Given the description of an element on the screen output the (x, y) to click on. 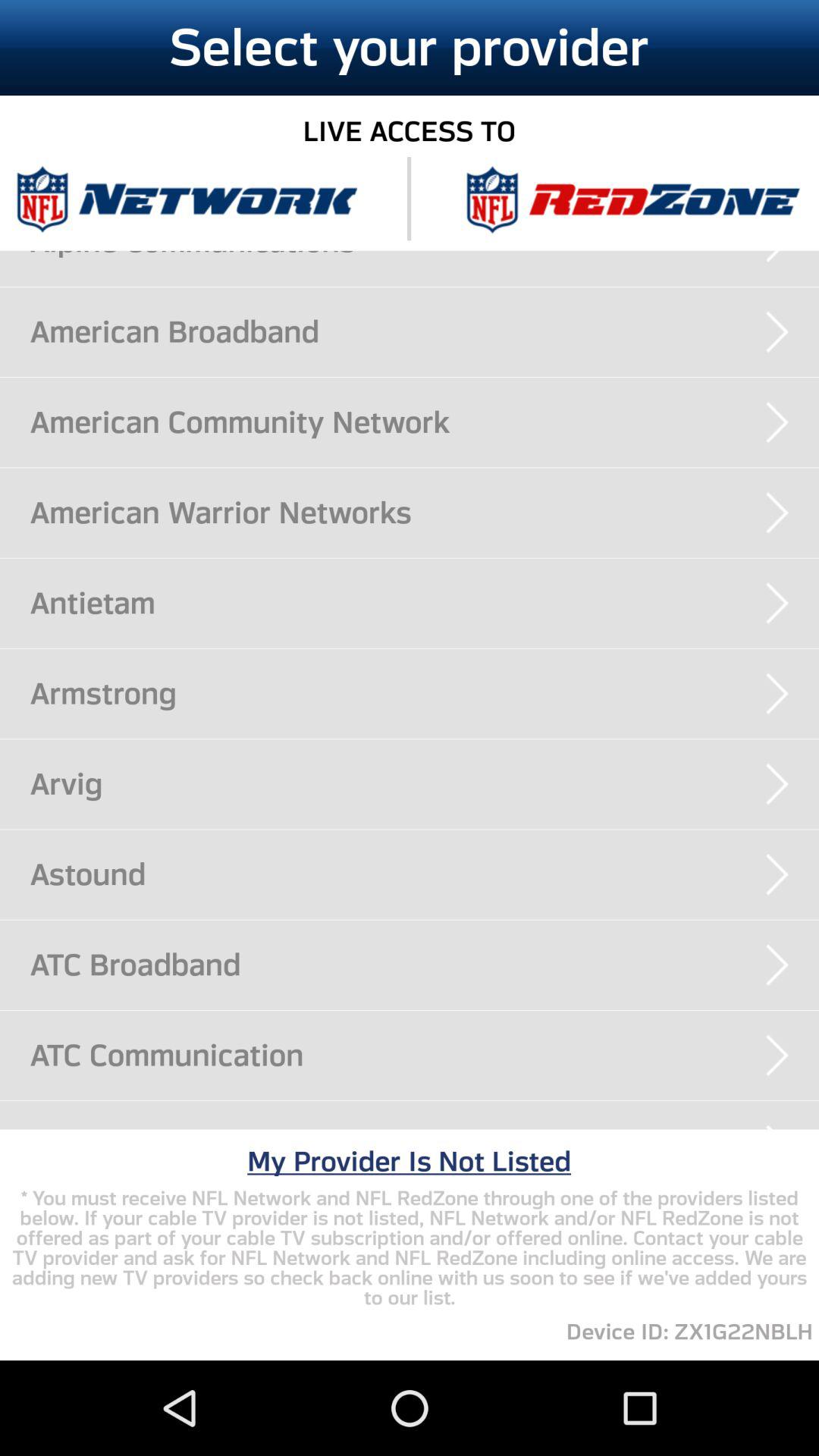
select the symbol which is right to network (632, 198)
select network which is before redzone on the page (186, 198)
click on the icon right to the american warrior networks (776, 512)
click on the right caret icon in which the text says antietam (776, 603)
click on the button on right side to move foward or next (776, 874)
